Given the description of an element on the screen output the (x, y) to click on. 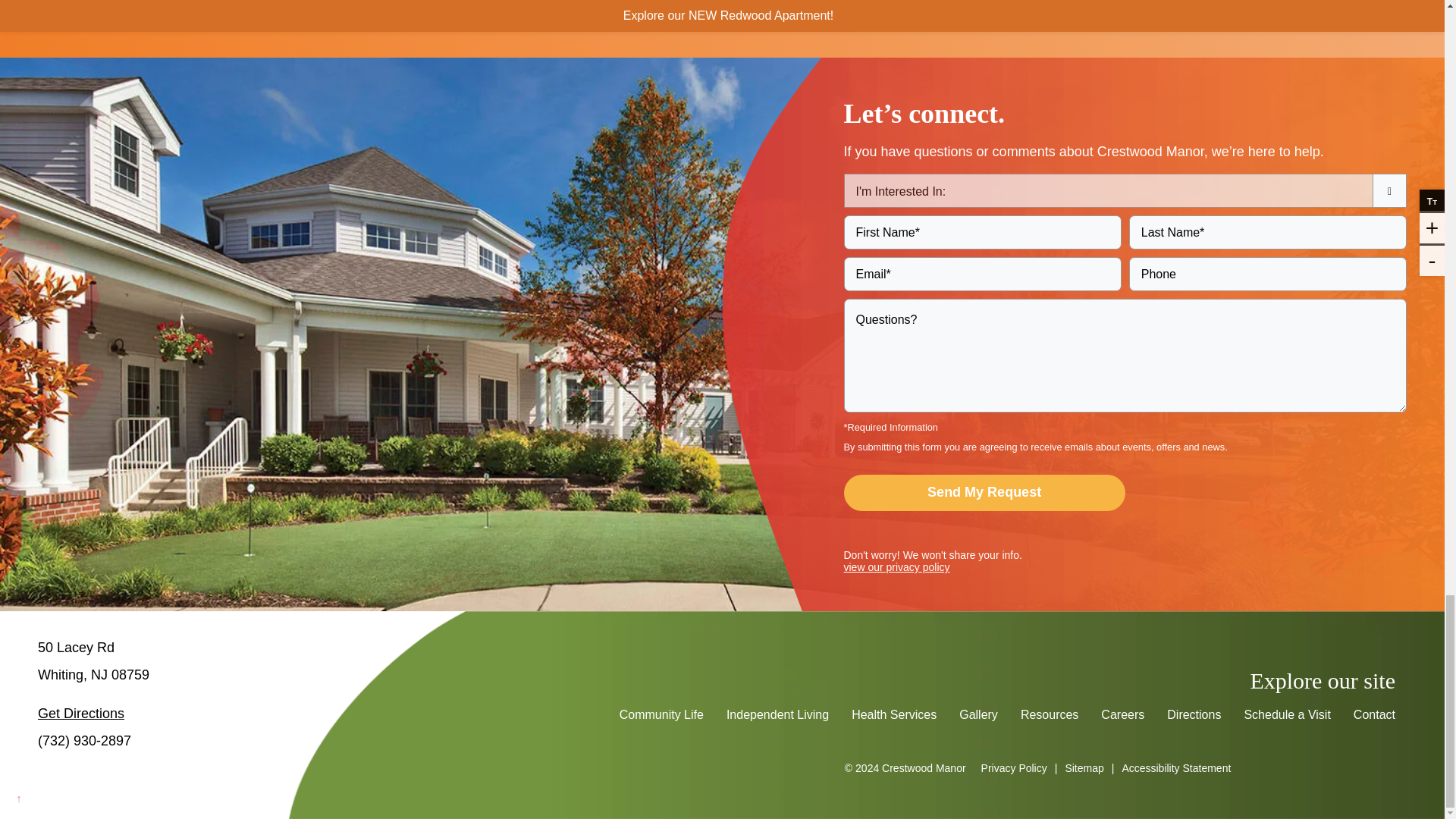
Send My Request (983, 493)
